Given the description of an element on the screen output the (x, y) to click on. 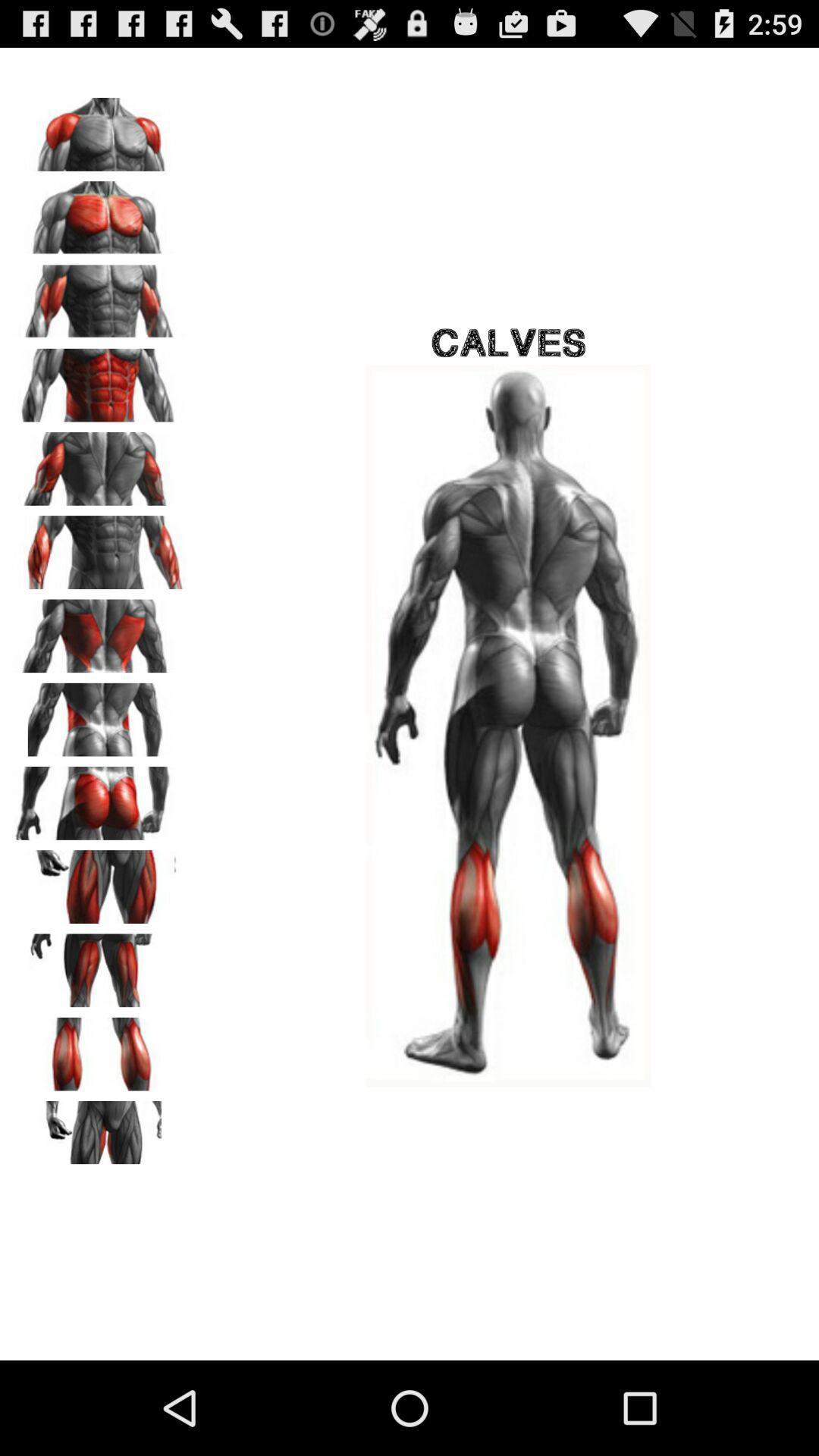
chest body (99, 129)
